Given the description of an element on the screen output the (x, y) to click on. 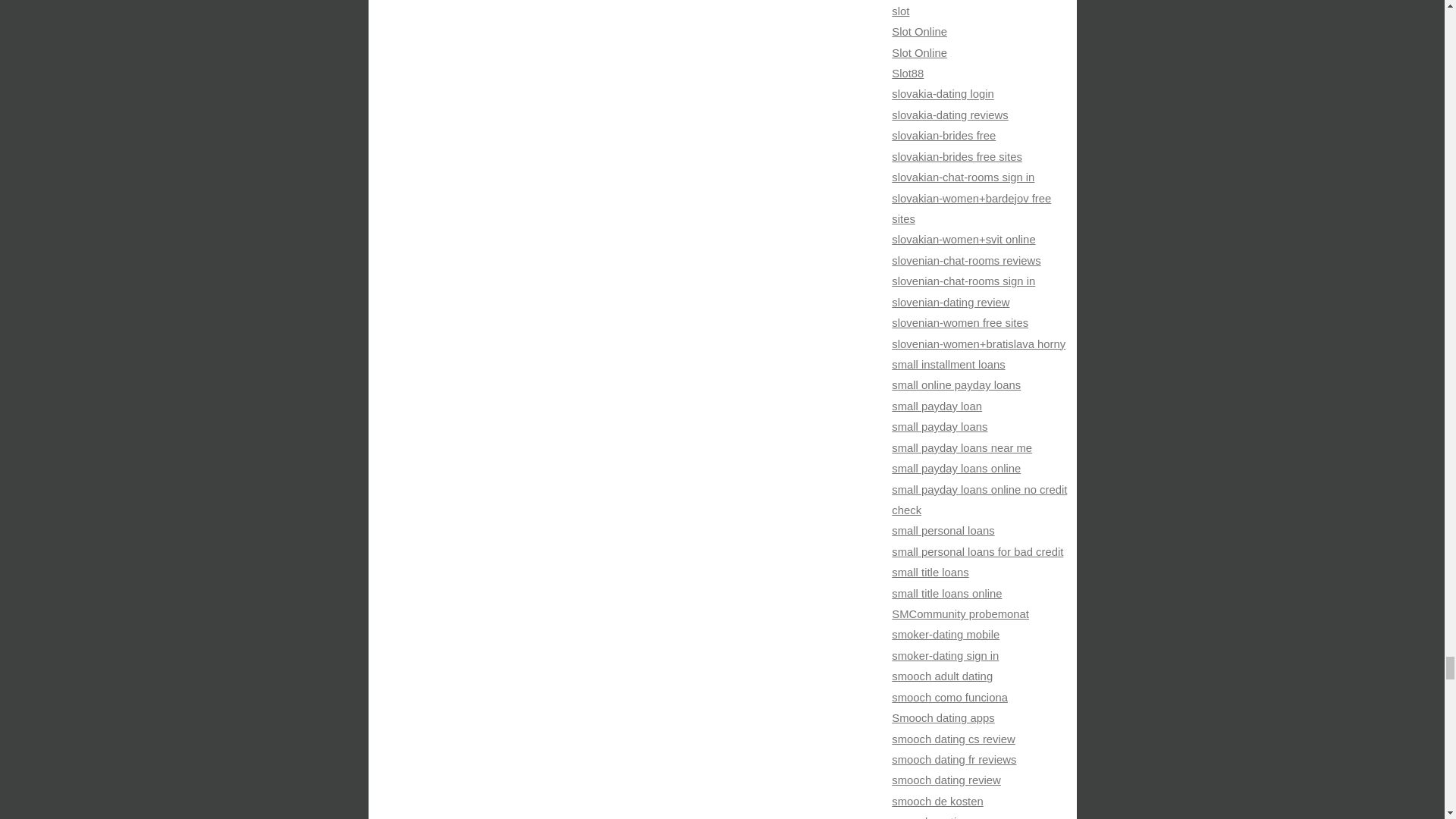
Slot Online (919, 52)
Slot Online (919, 31)
Slot88 (907, 73)
